Given the description of an element on the screen output the (x, y) to click on. 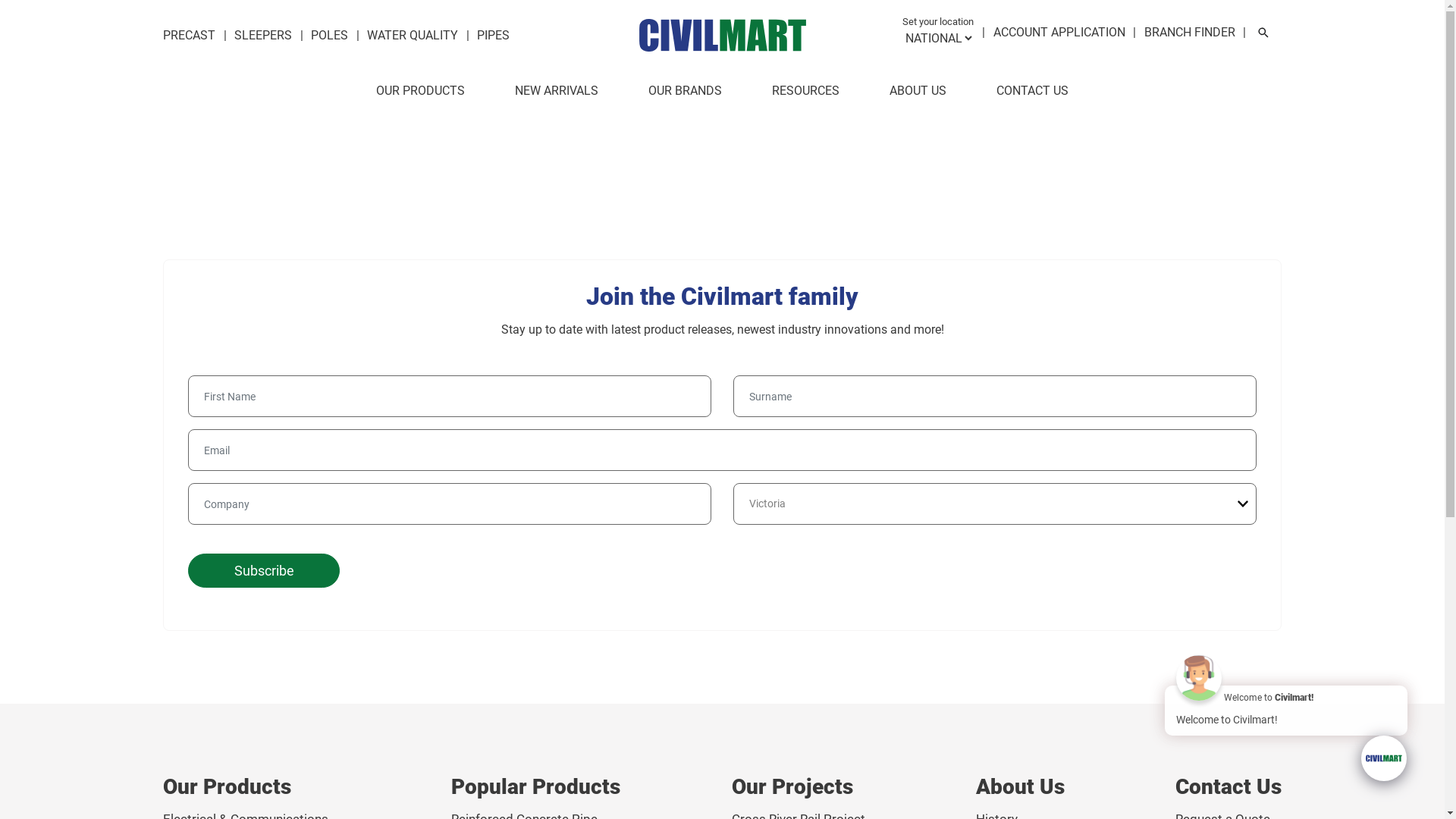
ABOUT US Element type: text (917, 91)
POLES Element type: text (329, 35)
PIPES Element type: text (492, 35)
OUR PRODUCTS Element type: text (420, 91)
Subscribe Element type: text (263, 570)
ACCOUNT APPLICATION Element type: text (1059, 32)
CONTACT US Element type: text (1032, 91)
Chat with us! Element type: hover (1383, 758)
NEW ARRIVALS Element type: text (556, 91)
BRANCH FINDER Element type: text (1189, 32)
PRECAST Element type: text (189, 35)
SLEEPERS Element type: text (262, 35)
RESOURCES Element type: text (805, 91)
WATER QUALITY Element type: text (412, 35)
OUR BRANDS Element type: text (685, 91)
